Given the description of an element on the screen output the (x, y) to click on. 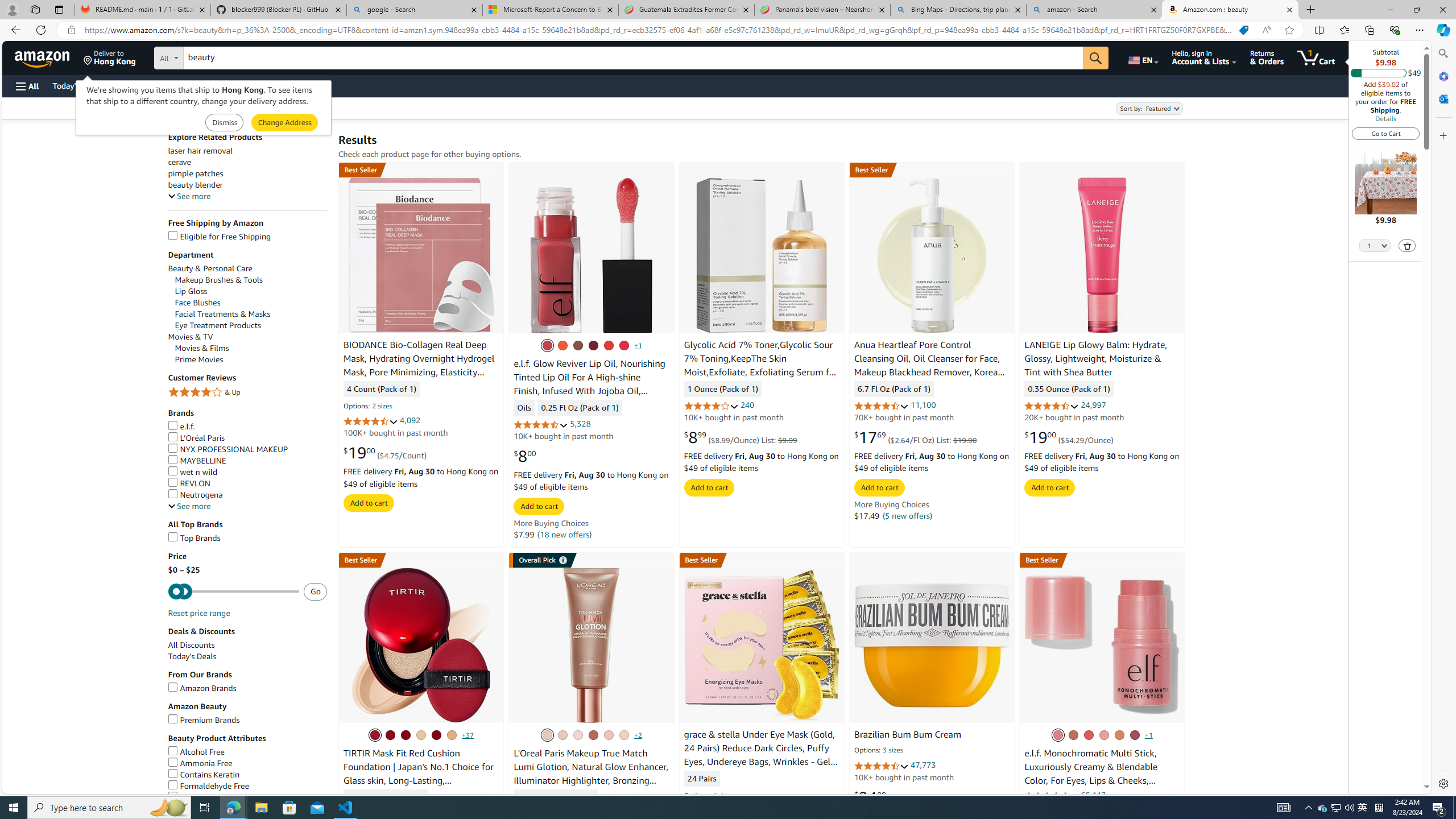
$8.99 ( $8.99 /Ounce) List: $9.99 (740, 437)
See more, Brands (189, 506)
Maximum (233, 591)
903 Medium (546, 734)
$19.00 ( $4.75 /Count) (384, 453)
Premium Brands (247, 719)
MAYBELLINE (247, 461)
SOL DE JANEIRO Brazilian Bum Bum Cream (931, 644)
Pink Quartz (607, 344)
Hello, sign in Account & Lists (1203, 57)
